Given the description of an element on the screen output the (x, y) to click on. 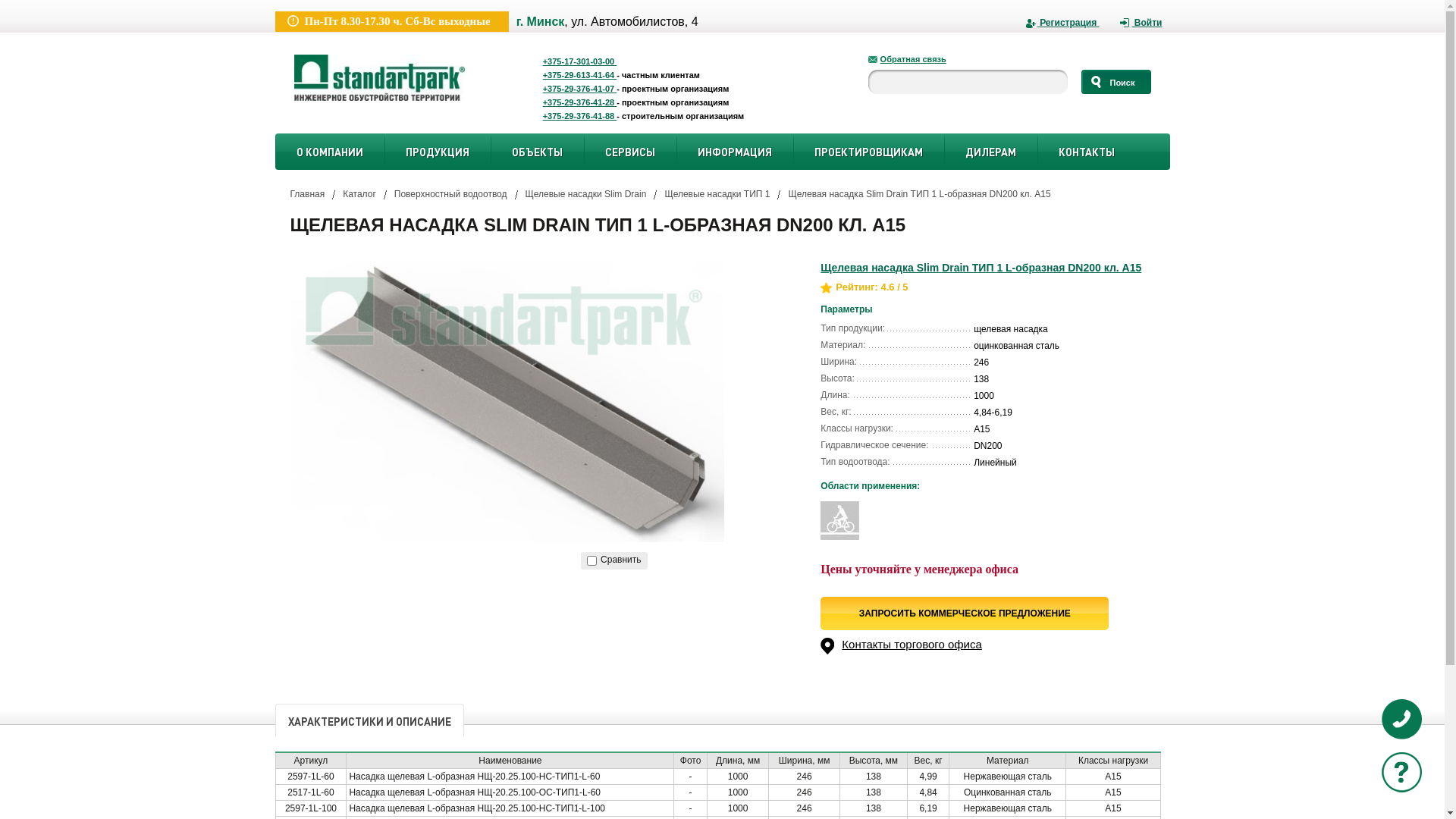
+375-17-301-03-00 Element type: text (683, 61)
